Given the description of an element on the screen output the (x, y) to click on. 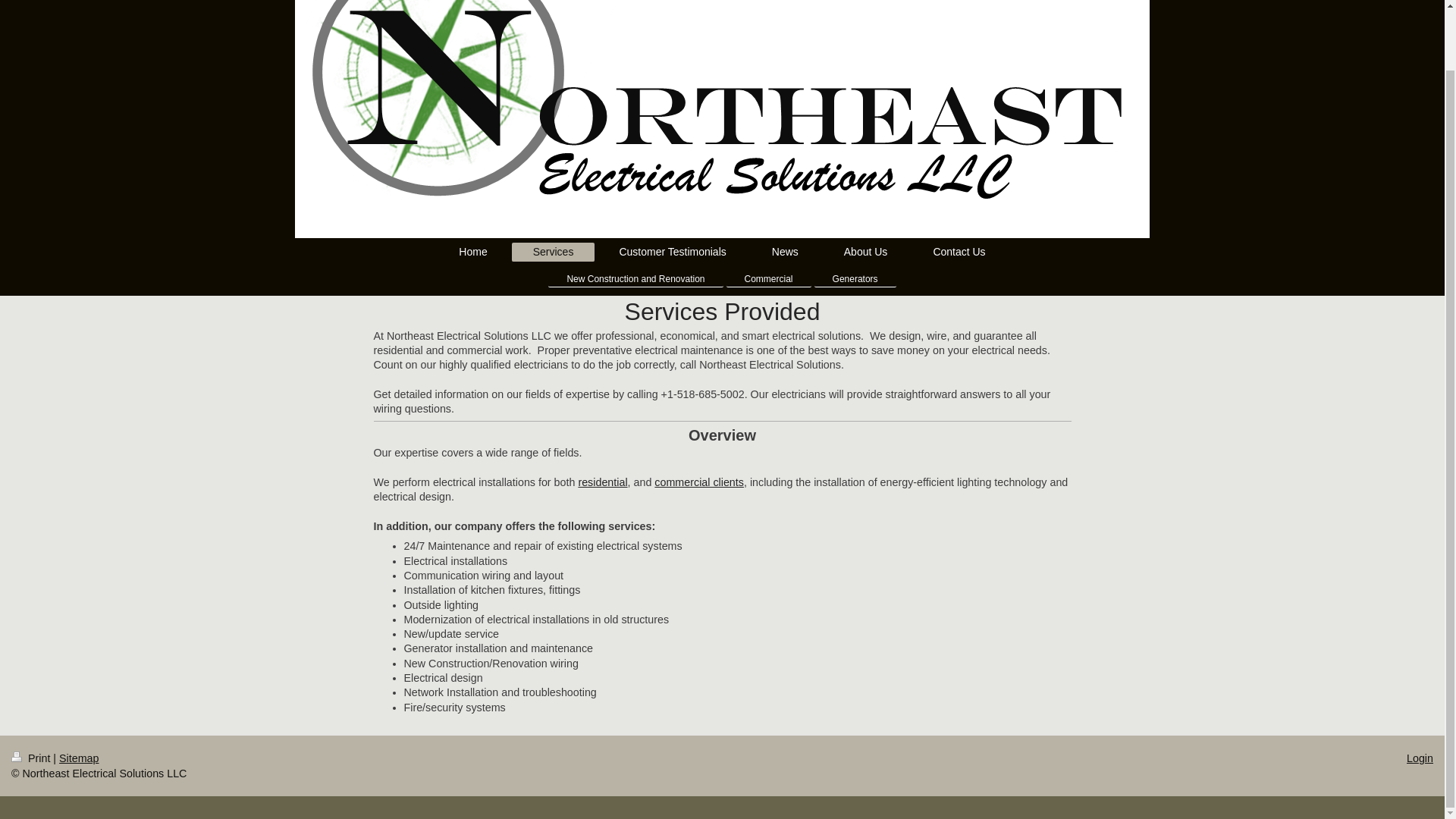
Home (473, 251)
commercial clients (698, 481)
residential (602, 481)
About Us (865, 251)
Services (553, 251)
Generators (854, 279)
Contact Us (958, 251)
New Construction and Renovation (635, 279)
Print (31, 758)
Login (1419, 758)
